Given the description of an element on the screen output the (x, y) to click on. 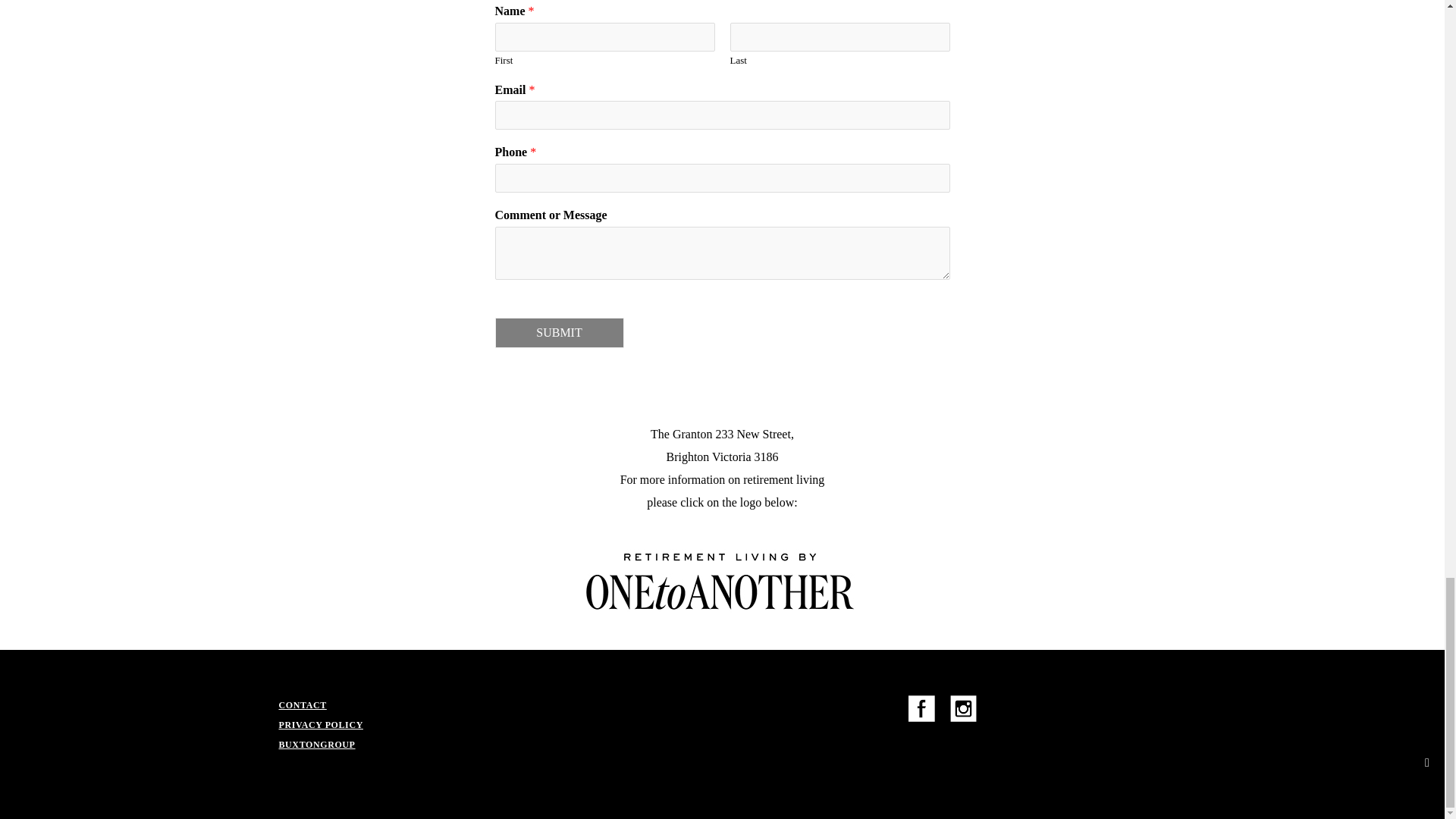
CONTACT (302, 705)
PRIVACY POLICY (320, 724)
SUBMIT (559, 332)
BUXTONGROUP (317, 744)
